Given the description of an element on the screen output the (x, y) to click on. 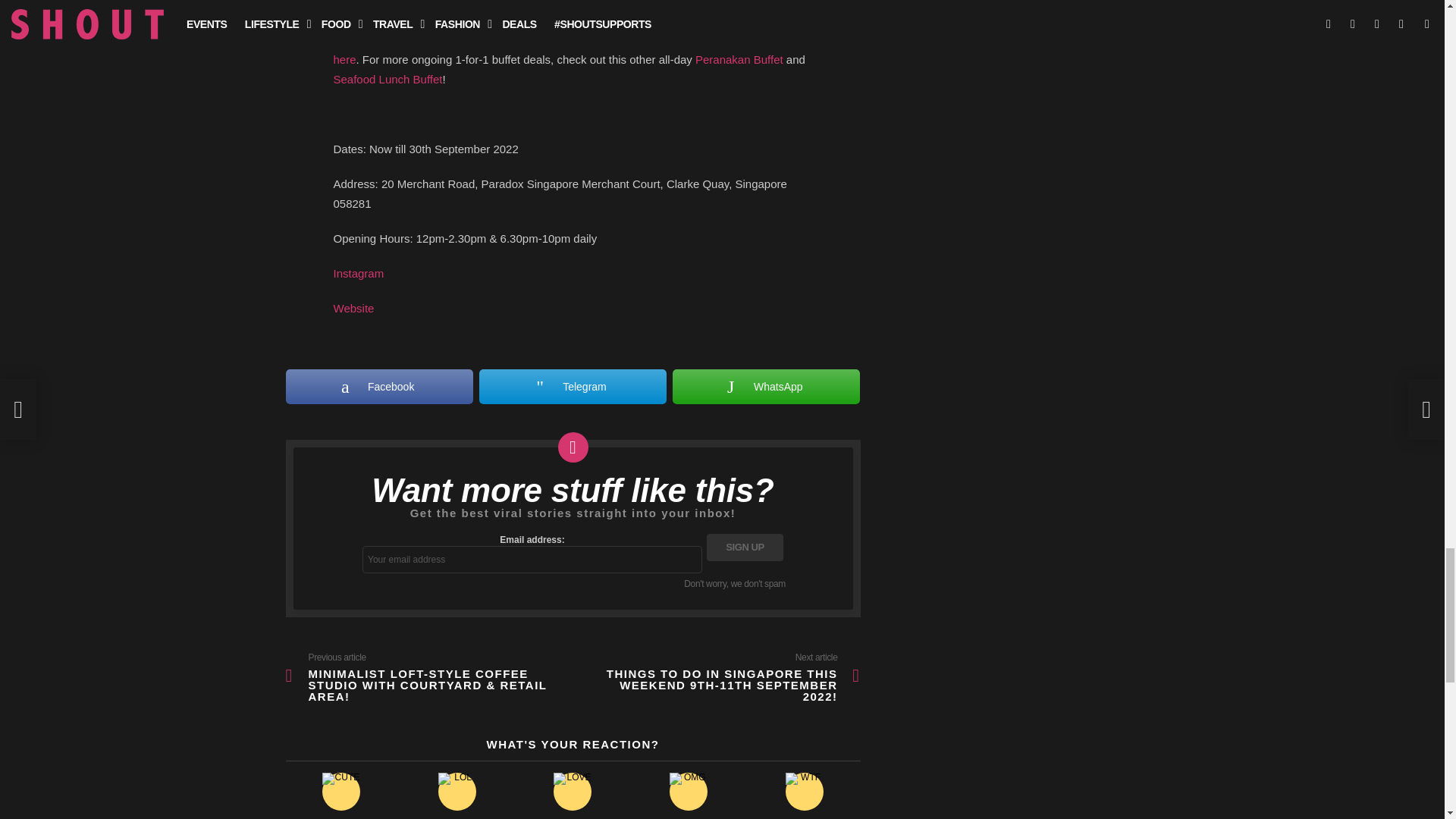
Share on WhatsApp (766, 386)
Share on Facebook (378, 386)
here (344, 59)
Share on Telegram (572, 386)
Sign up (744, 547)
